Given the description of an element on the screen output the (x, y) to click on. 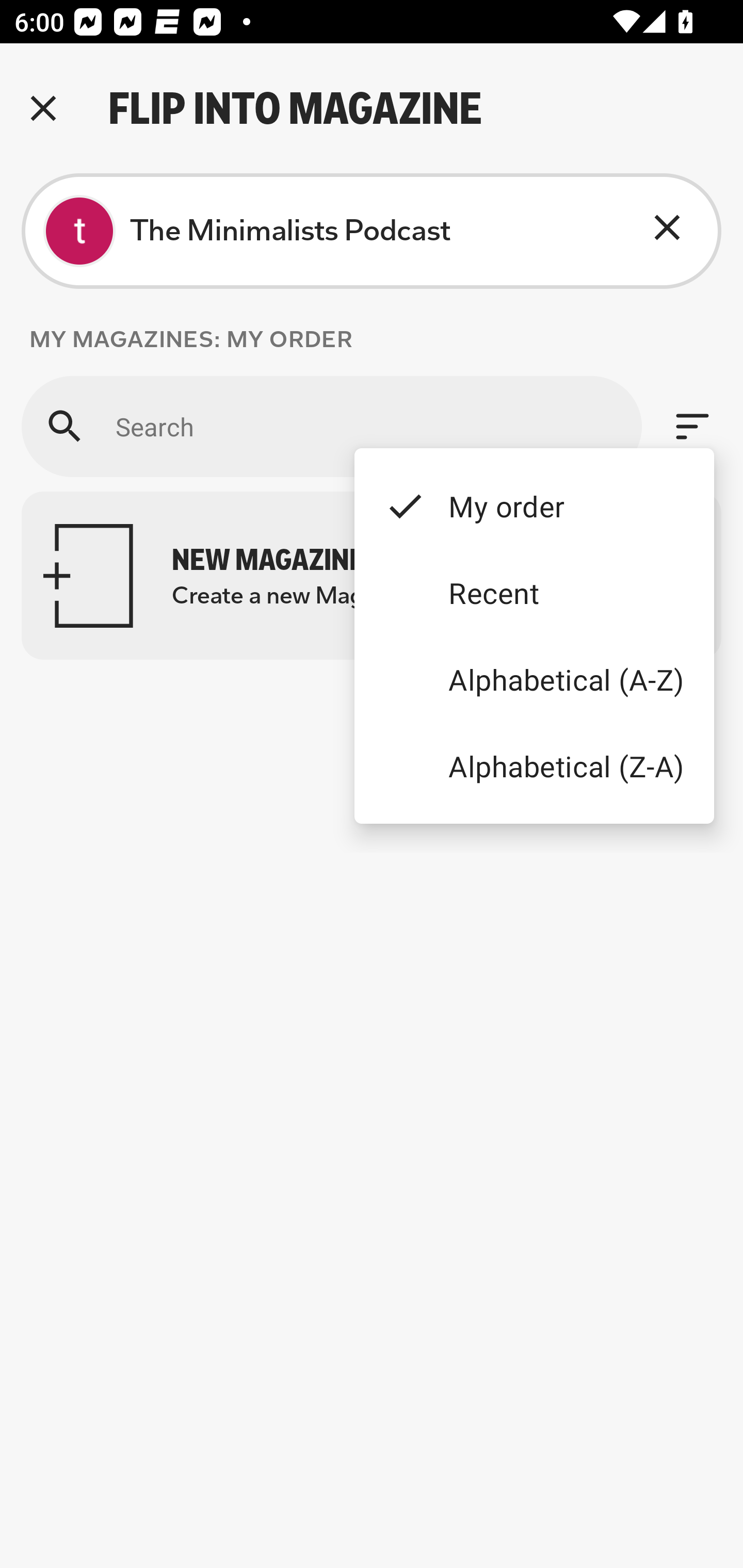
My order (534, 505)
Recent (534, 592)
Alphabetical (A-Z) (534, 679)
Alphabetical (Z-A) (534, 765)
